Given the description of an element on the screen output the (x, y) to click on. 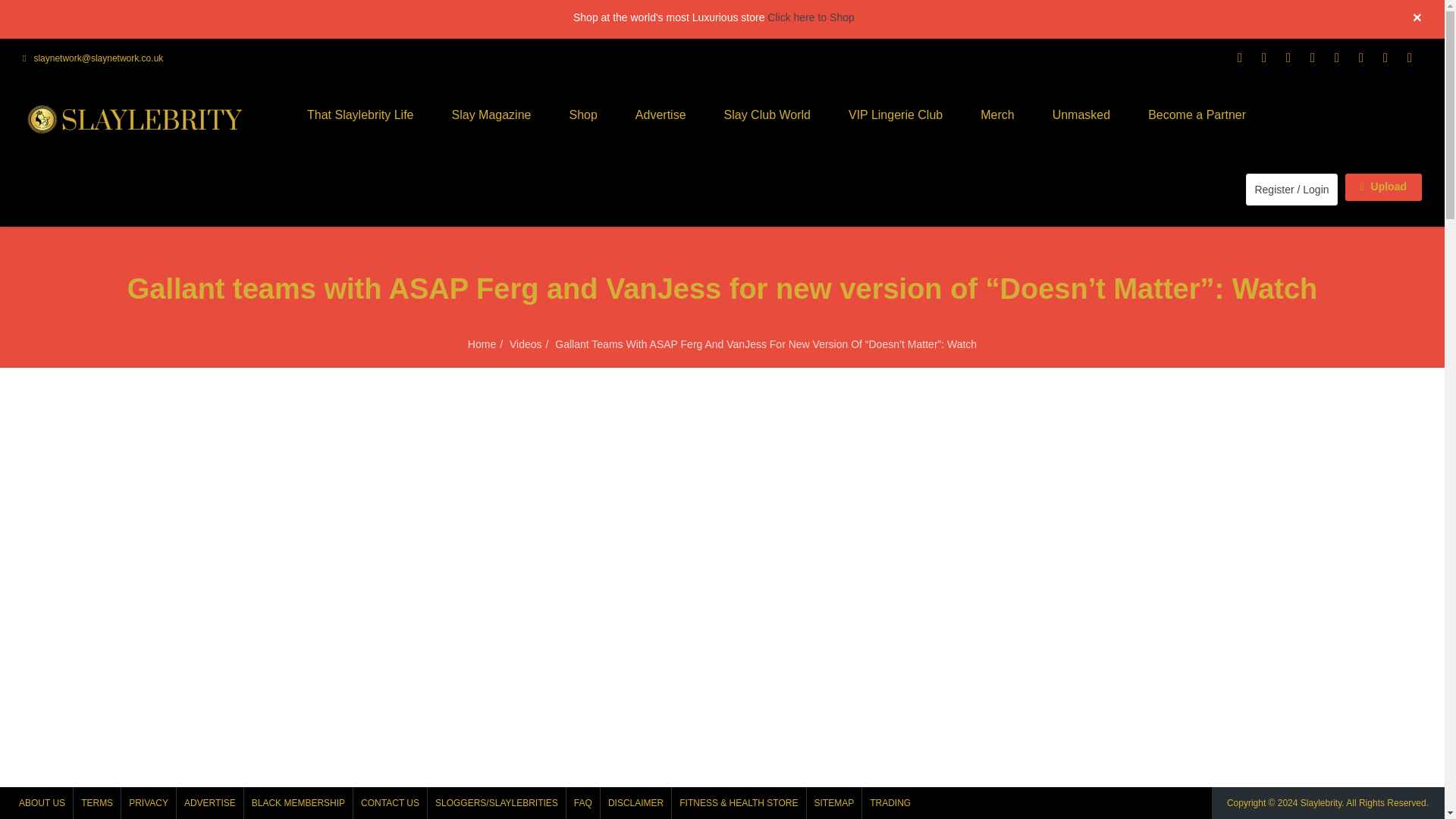
Advertise (659, 114)
ADVERTISE (209, 803)
Merch (996, 114)
Upload (1383, 186)
CONTACT US (389, 803)
Slay Magazine (491, 114)
Slay Club World (766, 114)
Become a Partner (1197, 114)
PRIVACY (148, 803)
Home (481, 344)
